Given the description of an element on the screen output the (x, y) to click on. 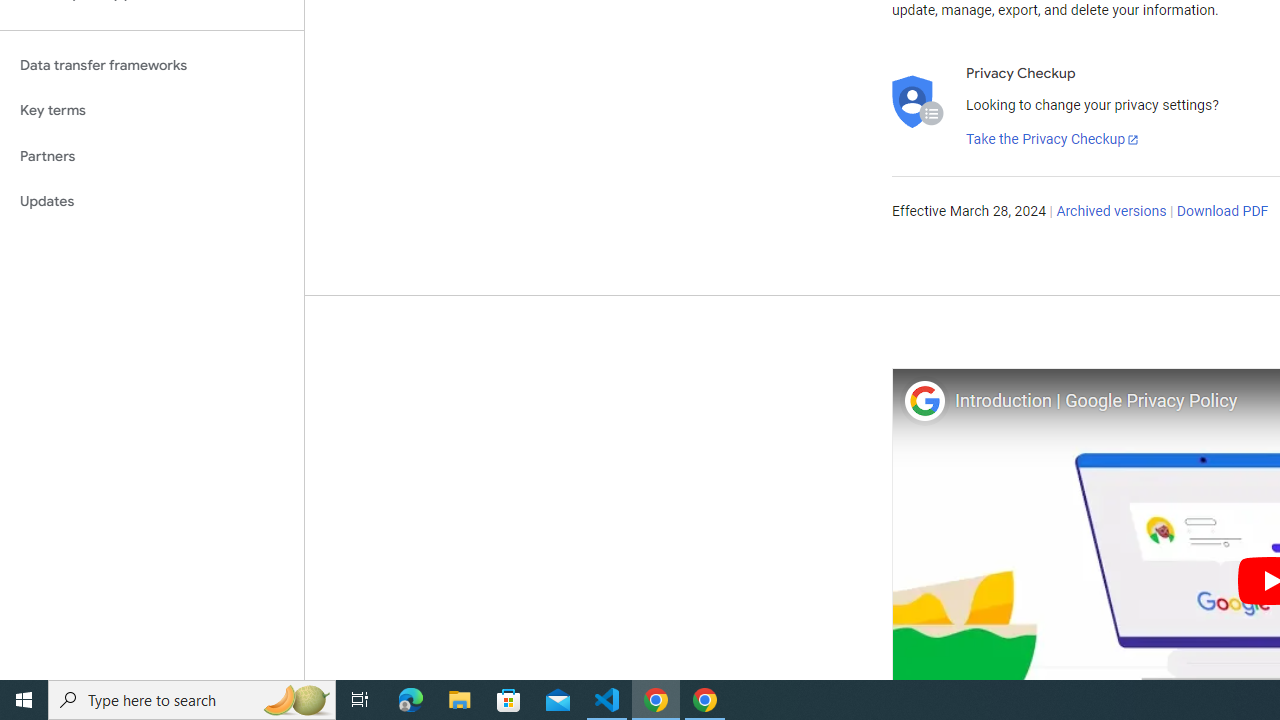
Partners (152, 156)
Download PDF (1222, 212)
Data transfer frameworks (152, 65)
Key terms (152, 110)
Updates (152, 201)
Archived versions (1111, 212)
Take the Privacy Checkup (1053, 140)
Photo image of Google (924, 400)
